Given the description of an element on the screen output the (x, y) to click on. 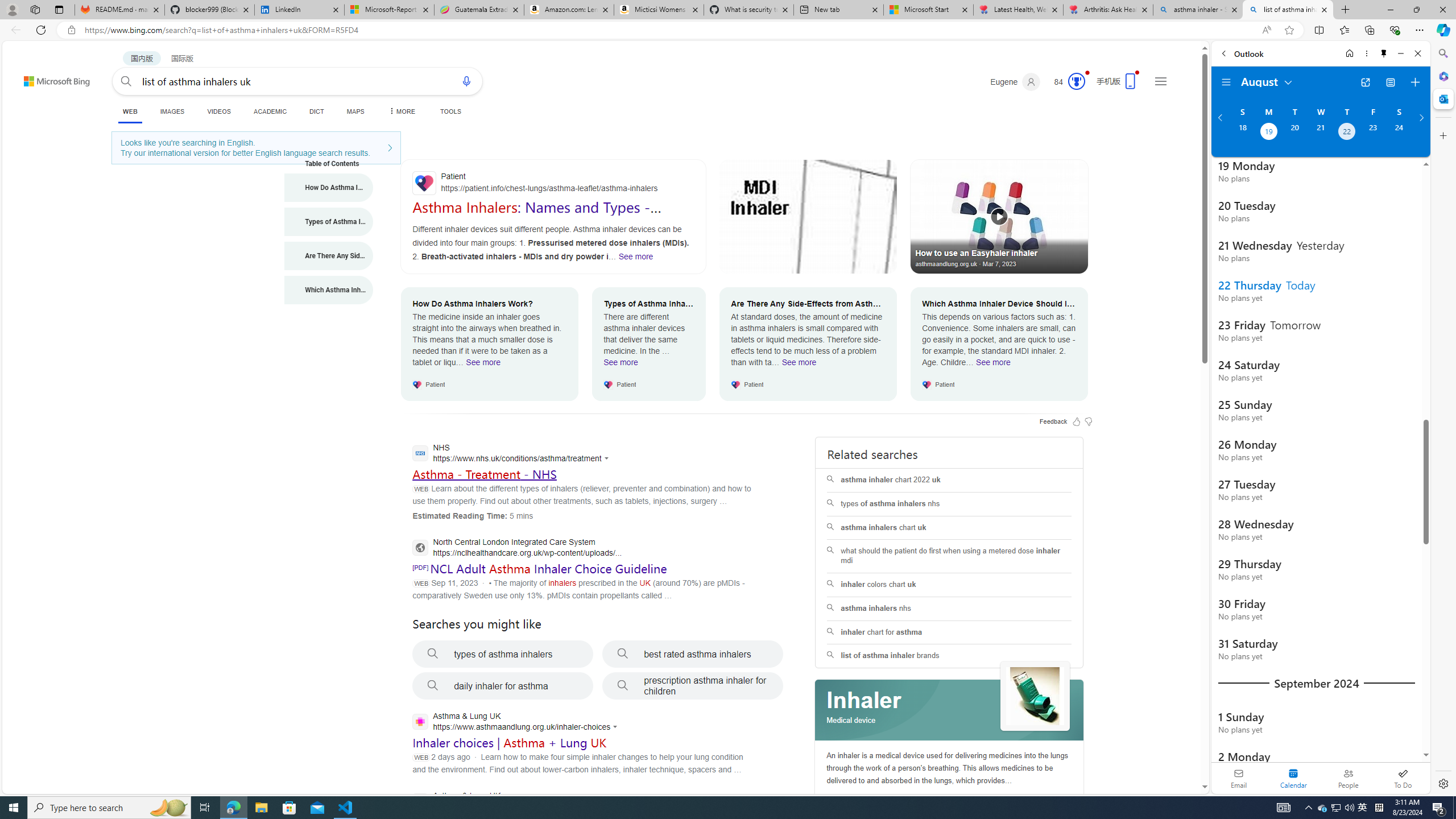
Email (1238, 777)
inhaler colors chart uk (949, 584)
See more images of Inhaler (1035, 697)
best rated asthma inhalers (692, 653)
Eugene (1015, 81)
asthma inhalers chart uk (949, 527)
Patient (553, 182)
How Do Asthma Inhalers Work? (328, 187)
Wednesday, August 21, 2024.  (1320, 132)
Feedback Dislike (1088, 420)
People (1347, 777)
